Given the description of an element on the screen output the (x, y) to click on. 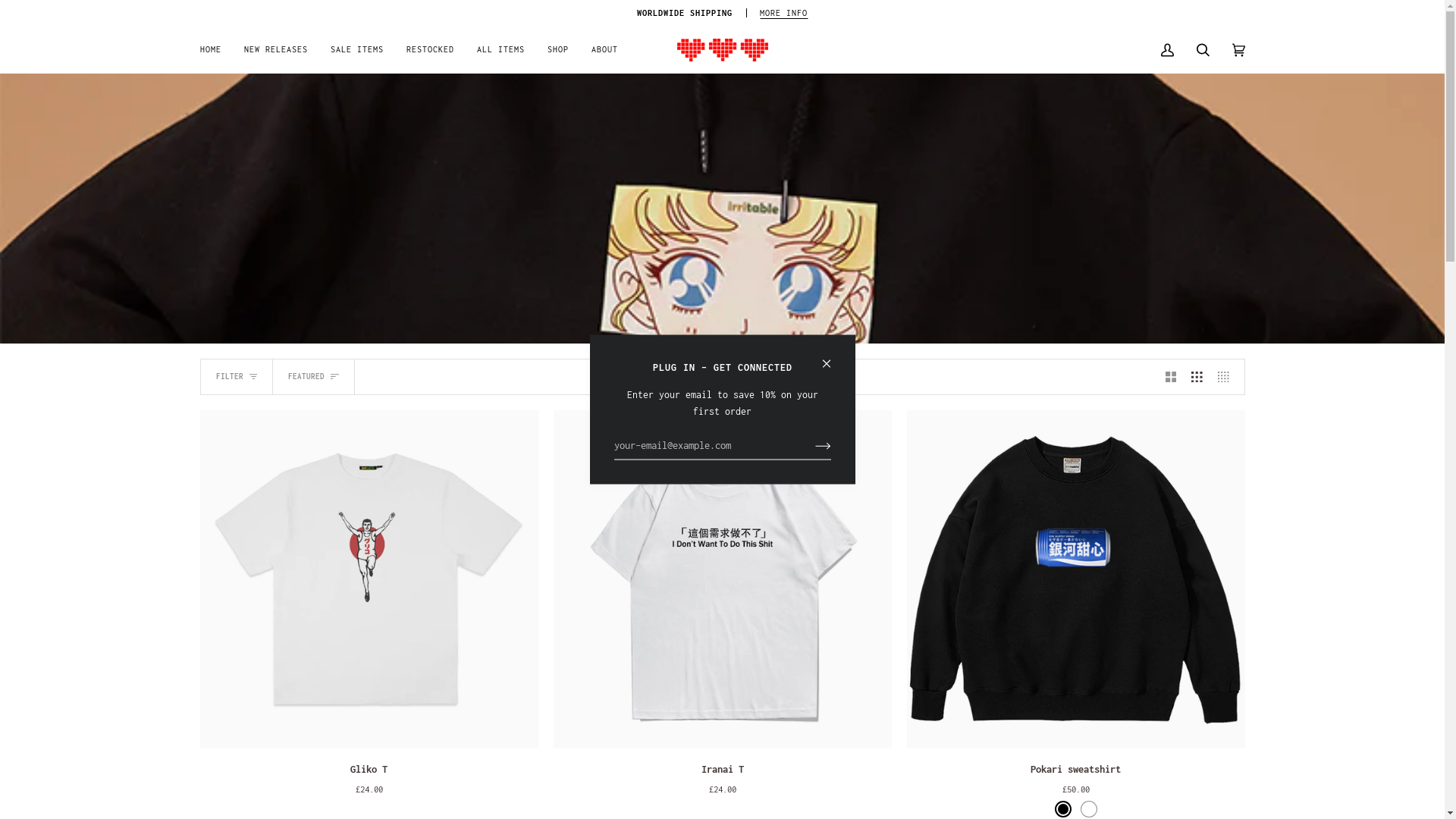
FILTER Element type: text (236, 376)
SALE ITEMS Element type: text (356, 49)
  Element type: text (722, 579)
Filter Element type: text (98, 15)
CART
(0) Element type: text (1238, 49)
FEATURED Element type: text (313, 376)
  Element type: text (369, 579)
RESTOCKED Element type: text (429, 49)
SEARCH Element type: text (1202, 49)
White Element type: text (1087, 808)
  Element type: text (1075, 579)
HOME Element type: text (216, 49)
Black Element type: text (1062, 808)
NEW RELEASES Element type: text (275, 49)
MY ACCOUNT Element type: text (1167, 49)
Close Element type: hover (831, 357)
SHOP Element type: text (557, 49)
ABOUT Element type: text (603, 49)
ALL ITEMS Element type: text (500, 49)
MORE INFO Element type: text (783, 12)
